Given the description of an element on the screen output the (x, y) to click on. 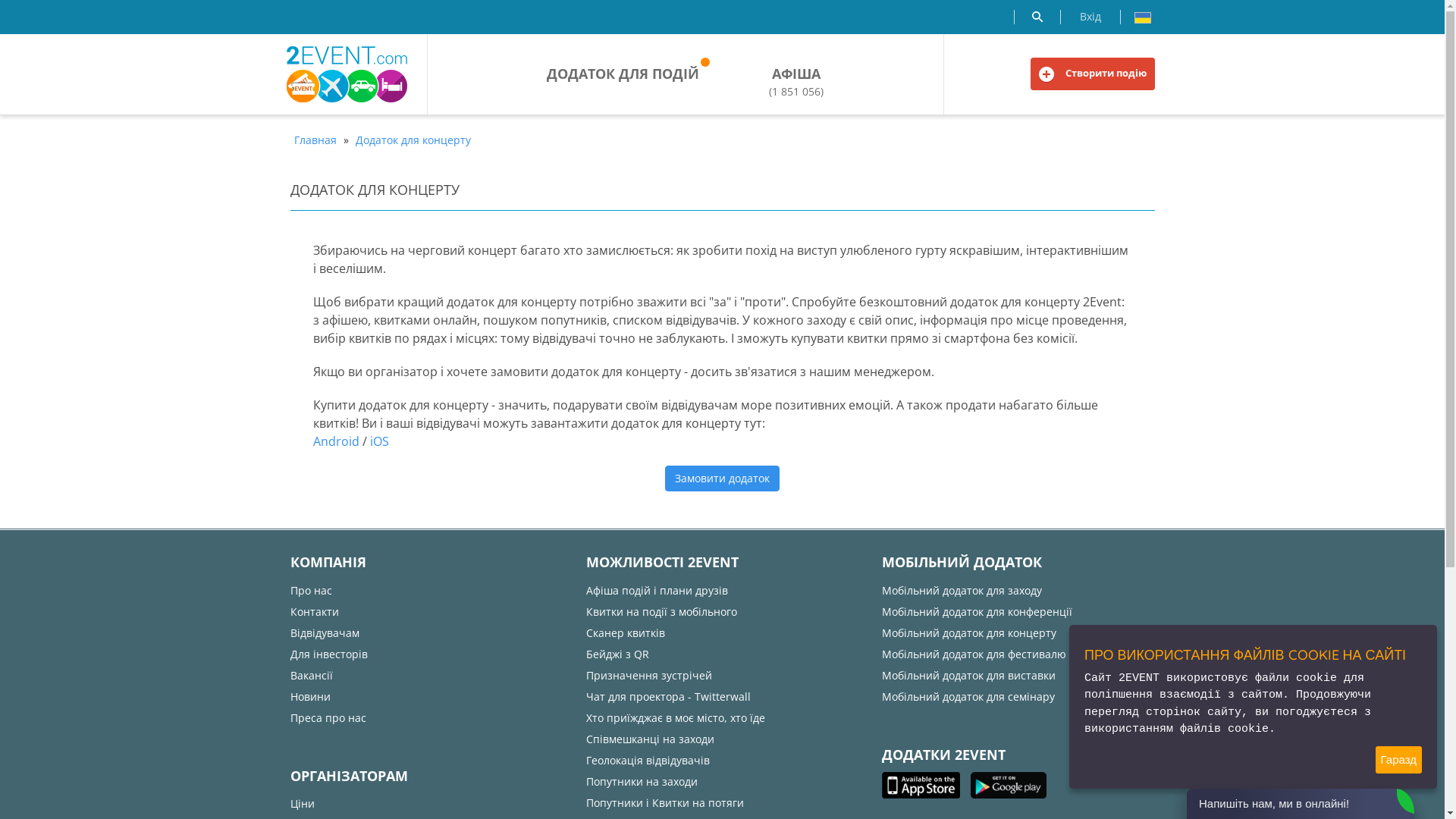
Android Element type: text (335, 441)
iOS Element type: text (379, 441)
